Given the description of an element on the screen output the (x, y) to click on. 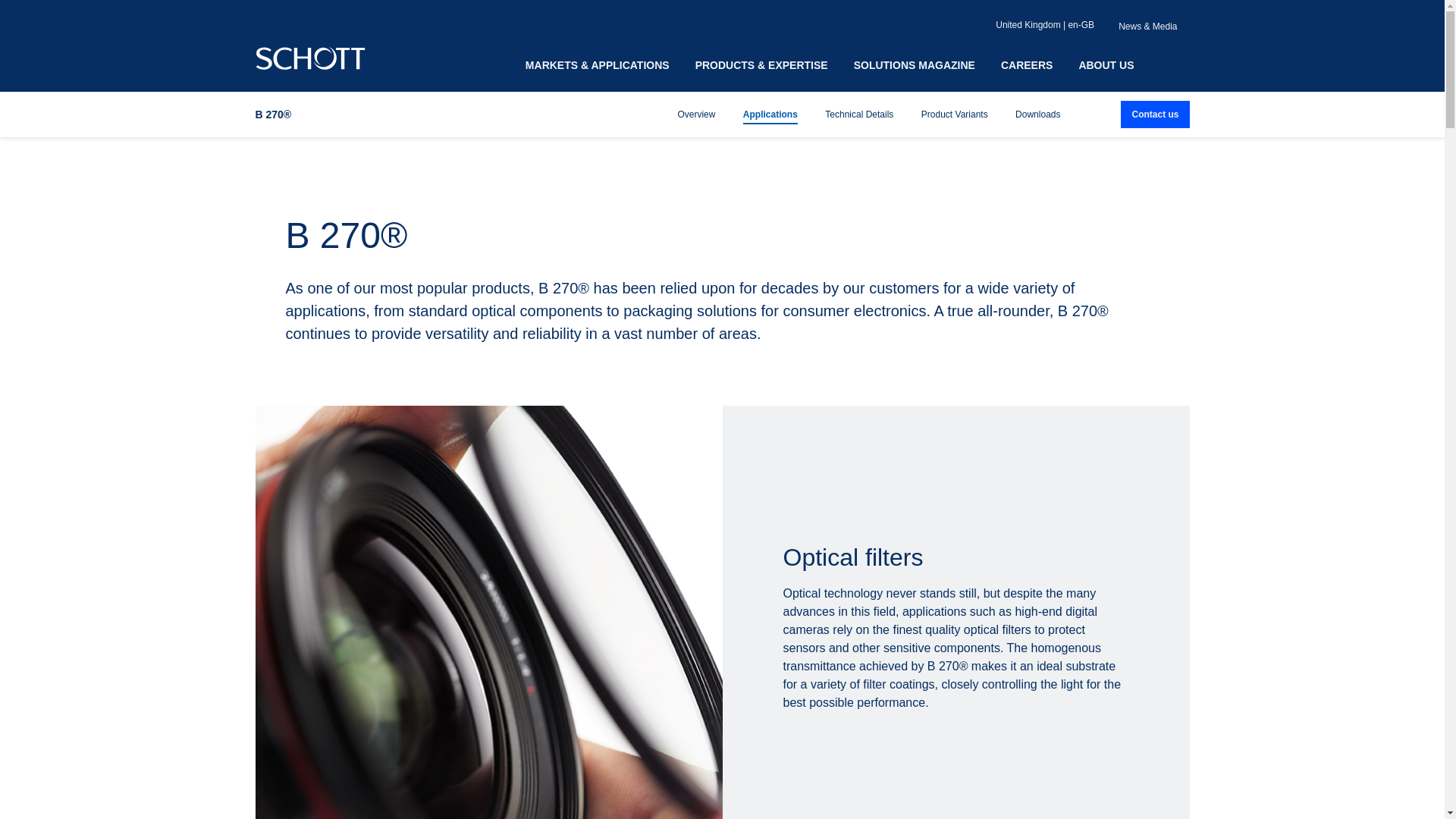
SOLUTIONS MAGAZINE (914, 65)
ABOUT US (1106, 65)
CAREERS (1026, 65)
